Given the description of an element on the screen output the (x, y) to click on. 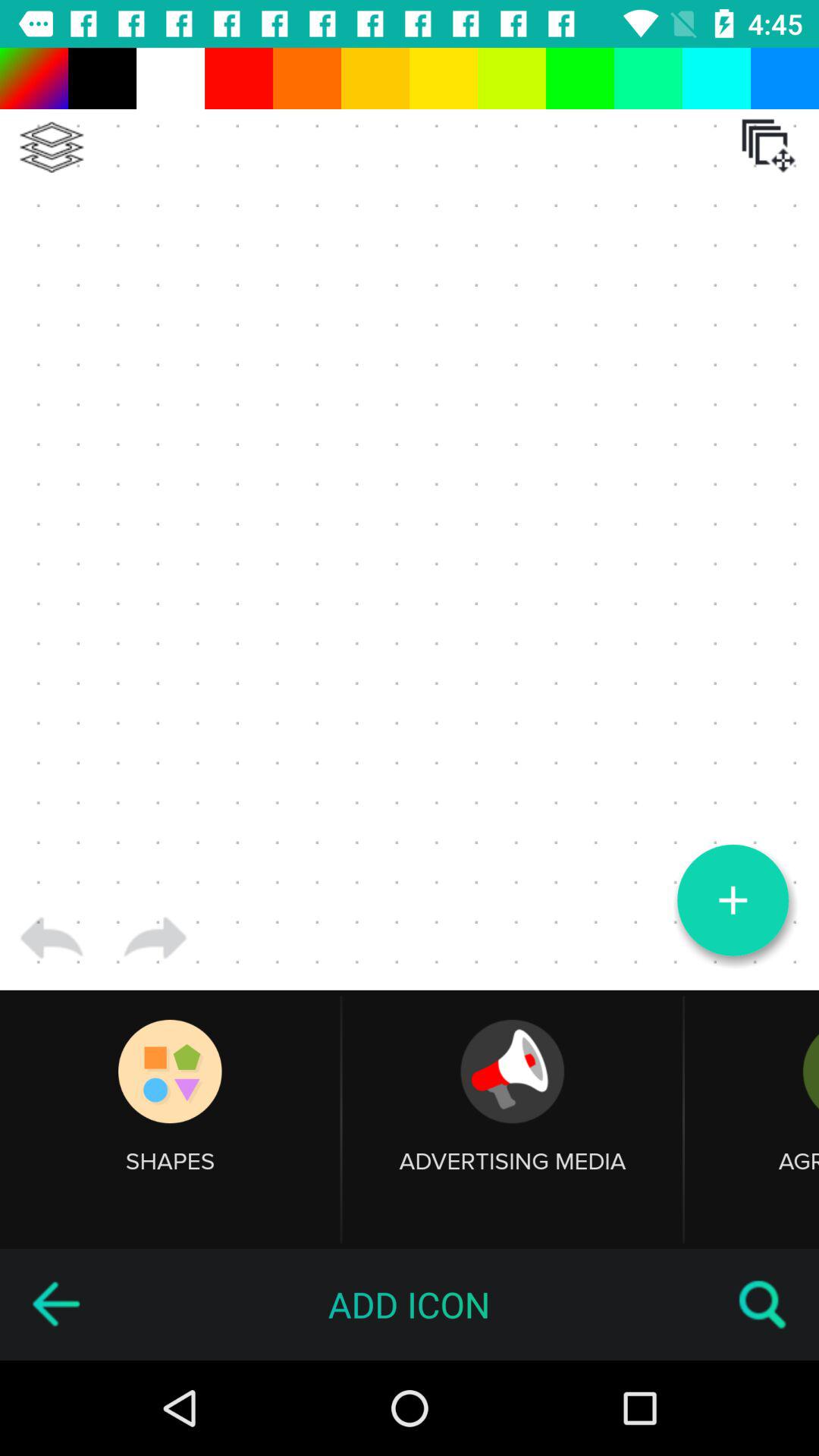
go to canvas (409, 518)
